Given the description of an element on the screen output the (x, y) to click on. 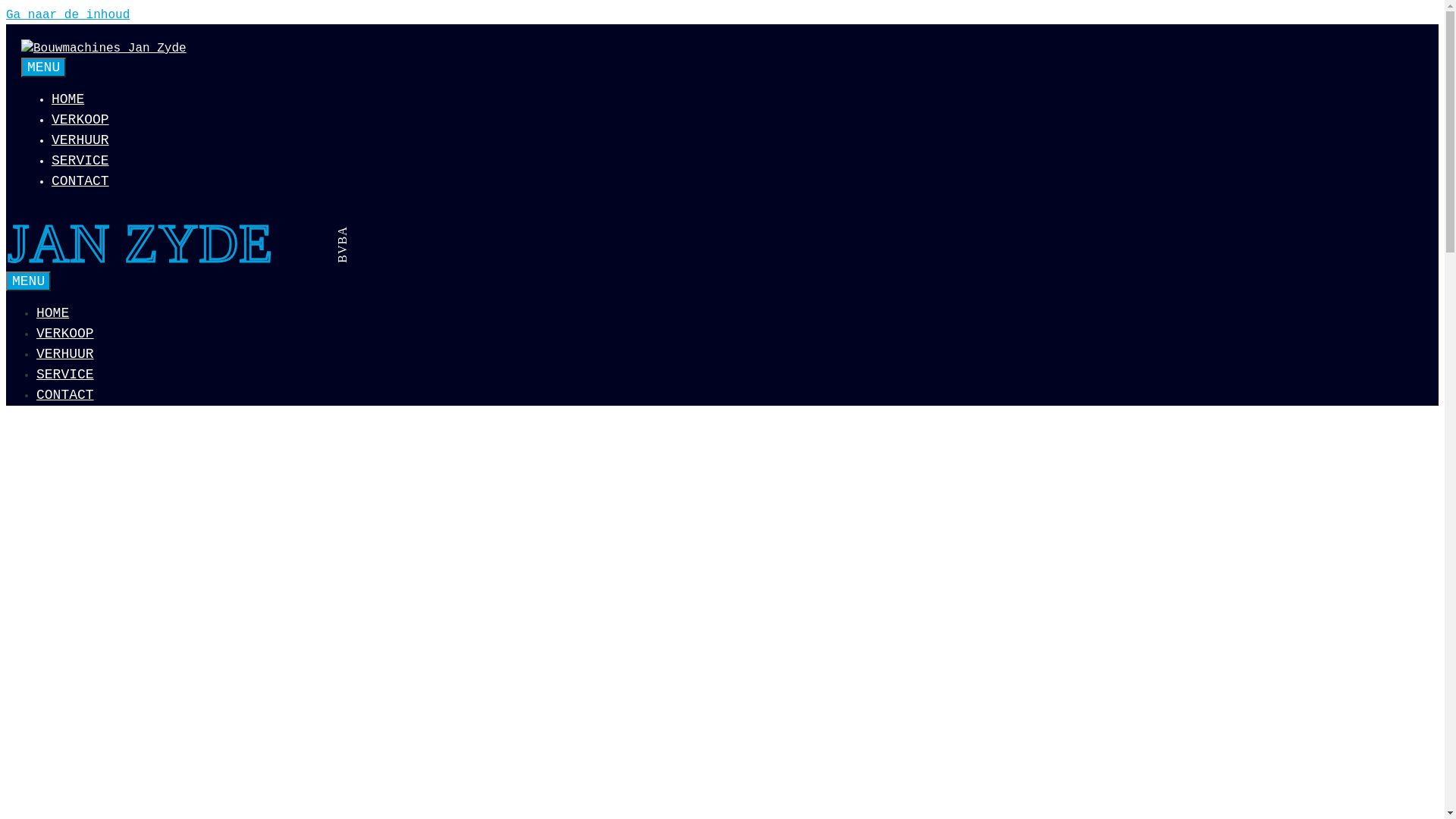
Bouwmachines Jan Zyde Element type: hover (188, 260)
MENU Element type: text (28, 281)
MENU Element type: text (43, 67)
VERHUUR Element type: text (65, 353)
HOME Element type: text (52, 312)
VERKOOP Element type: text (65, 333)
Ga naar de inhoud Element type: text (67, 14)
VERHUUR Element type: text (80, 139)
CONTACT Element type: text (65, 394)
SERVICE Element type: text (65, 374)
HOME Element type: text (67, 98)
SERVICE Element type: text (80, 160)
CONTACT Element type: text (80, 180)
VERKOOP Element type: text (80, 119)
